Given the description of an element on the screen output the (x, y) to click on. 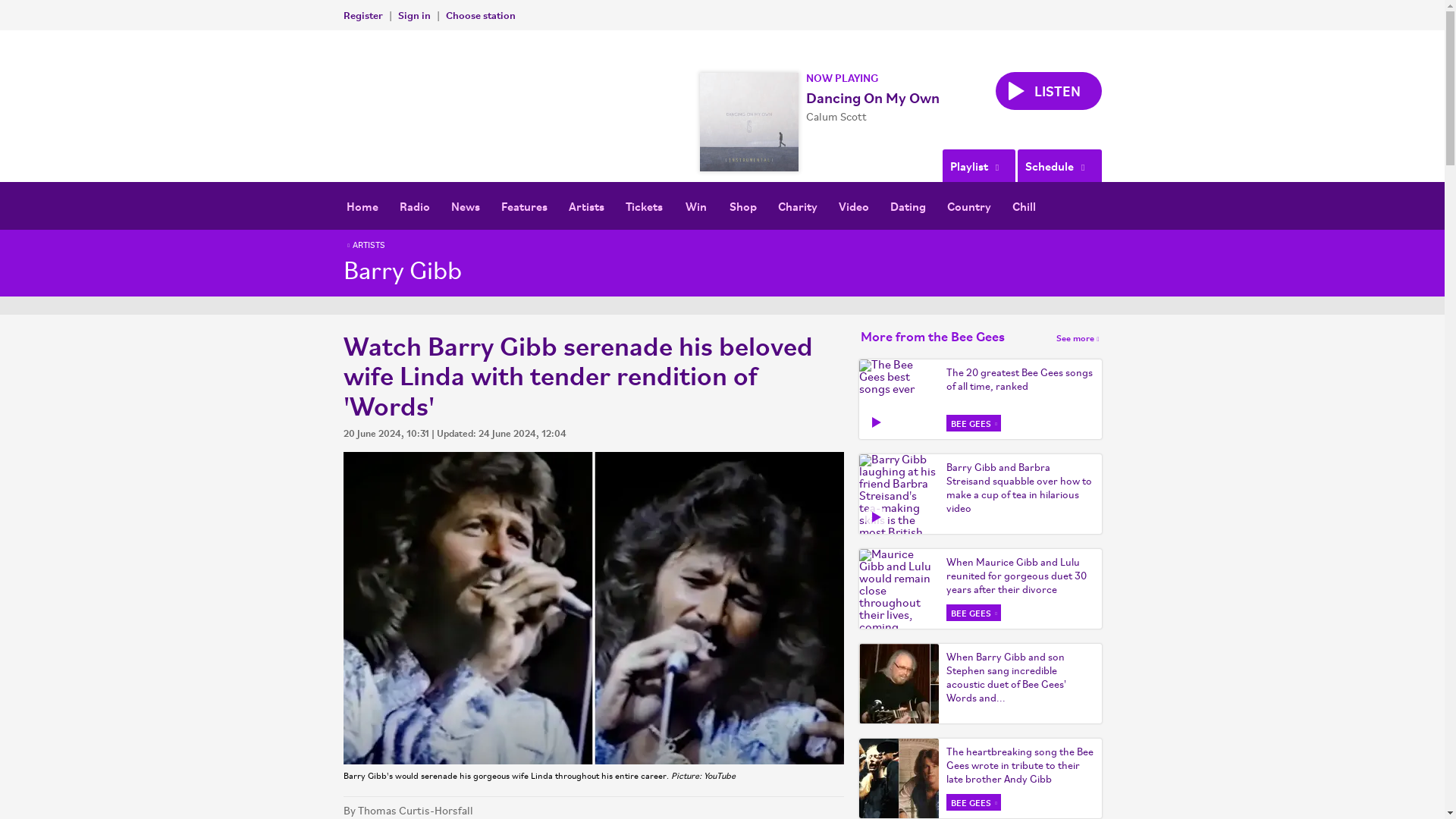
LISTEN (1047, 90)
Features (523, 205)
Choose station (480, 14)
Shop (743, 205)
Sign in (413, 14)
Register (361, 14)
Radio (413, 205)
Win (695, 205)
Home (361, 205)
News (464, 205)
Schedule (1058, 165)
ARTISTS (363, 245)
Dating (907, 205)
Tickets (643, 205)
Playlist (978, 165)
